Given the description of an element on the screen output the (x, y) to click on. 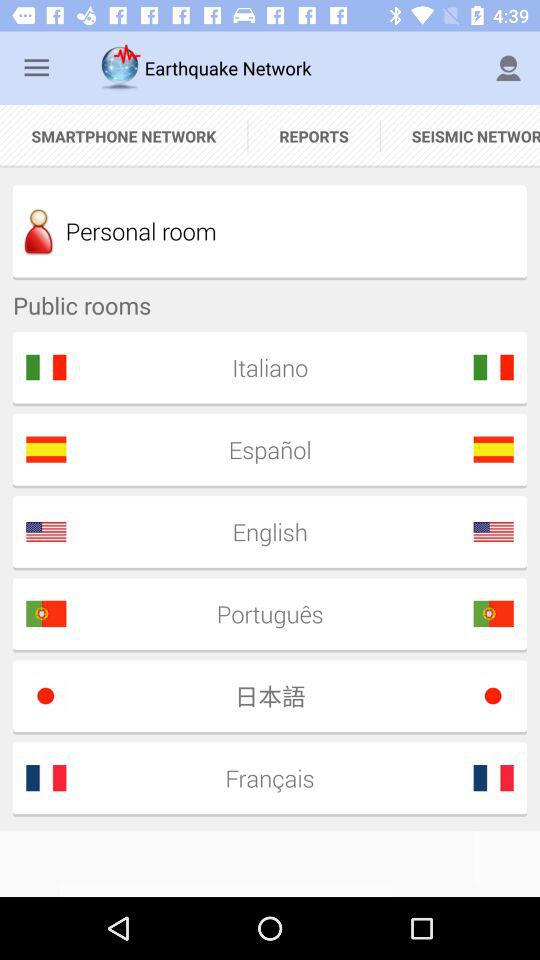
open the reports item (313, 136)
